Given the description of an element on the screen output the (x, y) to click on. 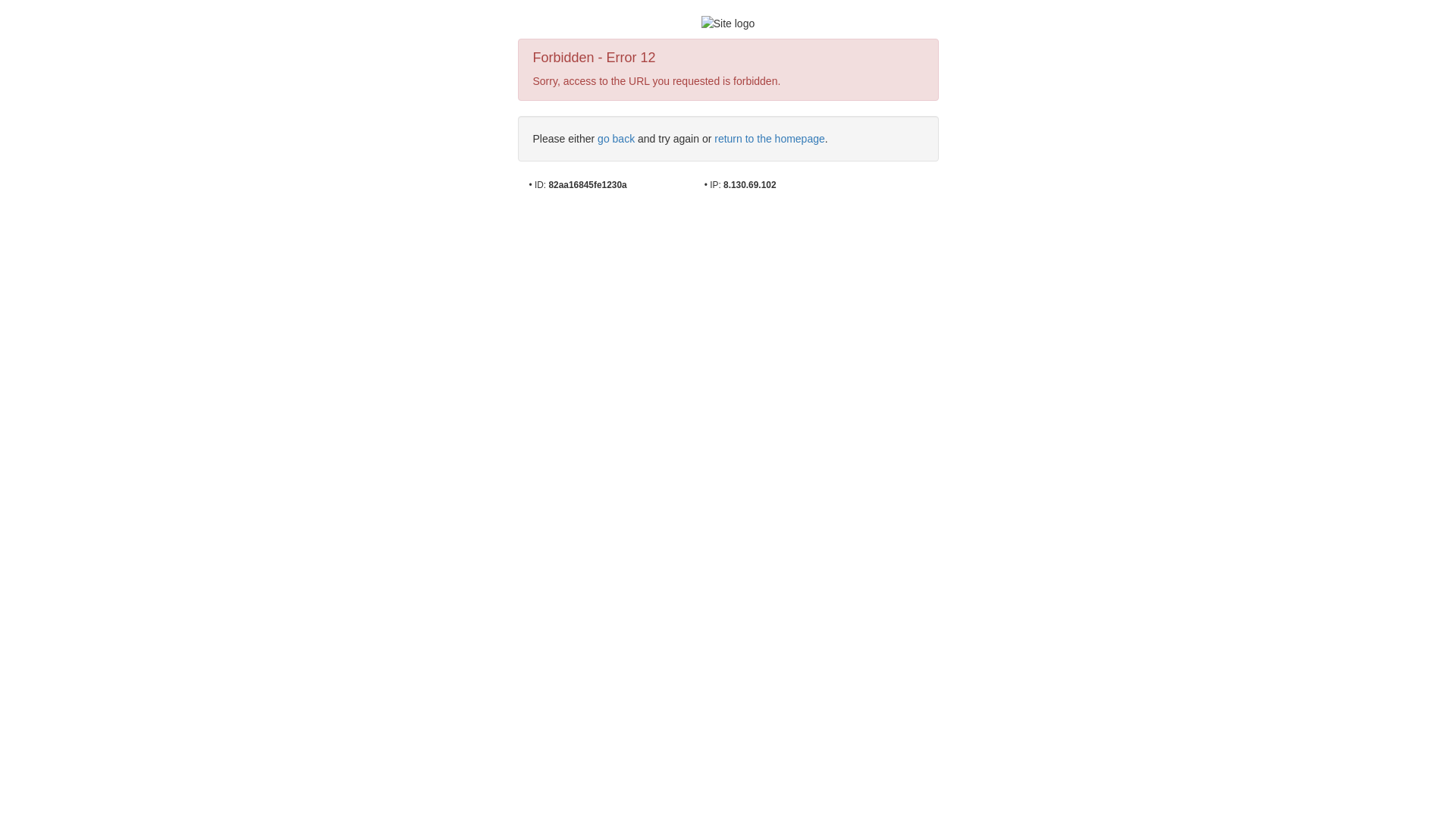
go back Element type: text (615, 138)
return to the homepage Element type: text (769, 138)
